Given the description of an element on the screen output the (x, y) to click on. 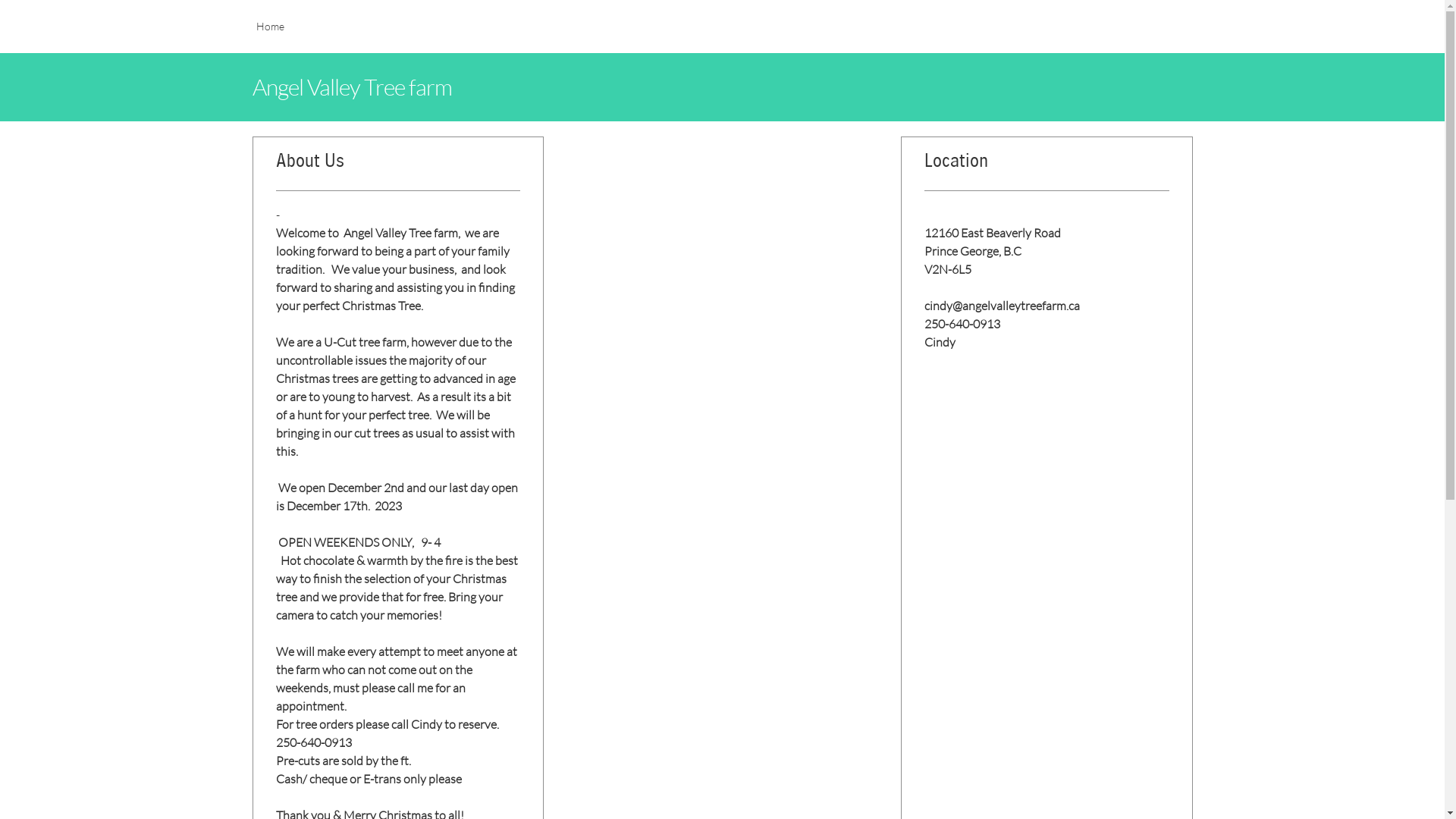
Angel Valley Tree farm Element type: text (721, 86)
Home Element type: text (270, 34)
About Us Element type: text (398, 167)
Location Element type: text (1046, 167)
